Given the description of an element on the screen output the (x, y) to click on. 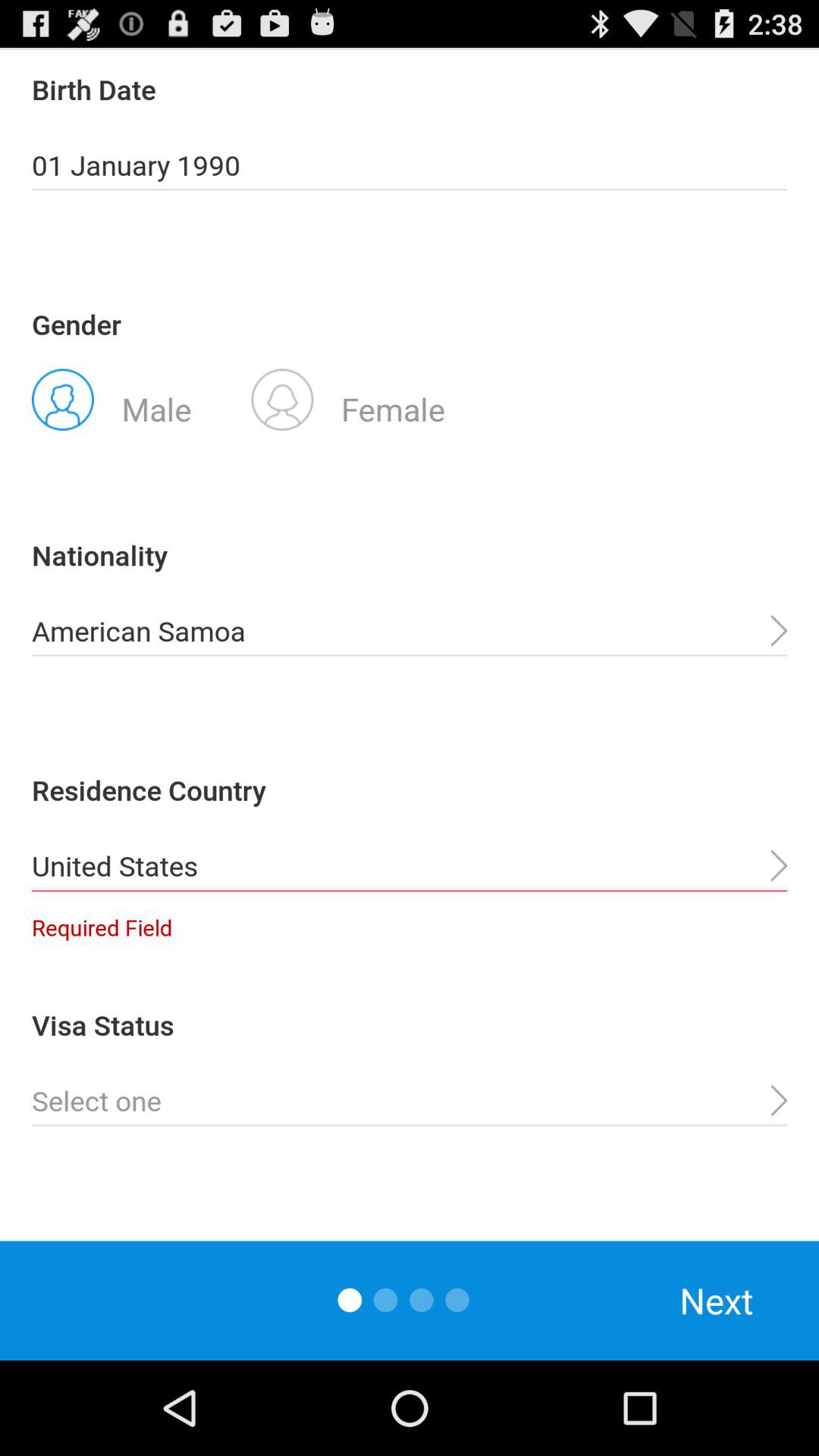
click the female radio button (348, 398)
